Given the description of an element on the screen output the (x, y) to click on. 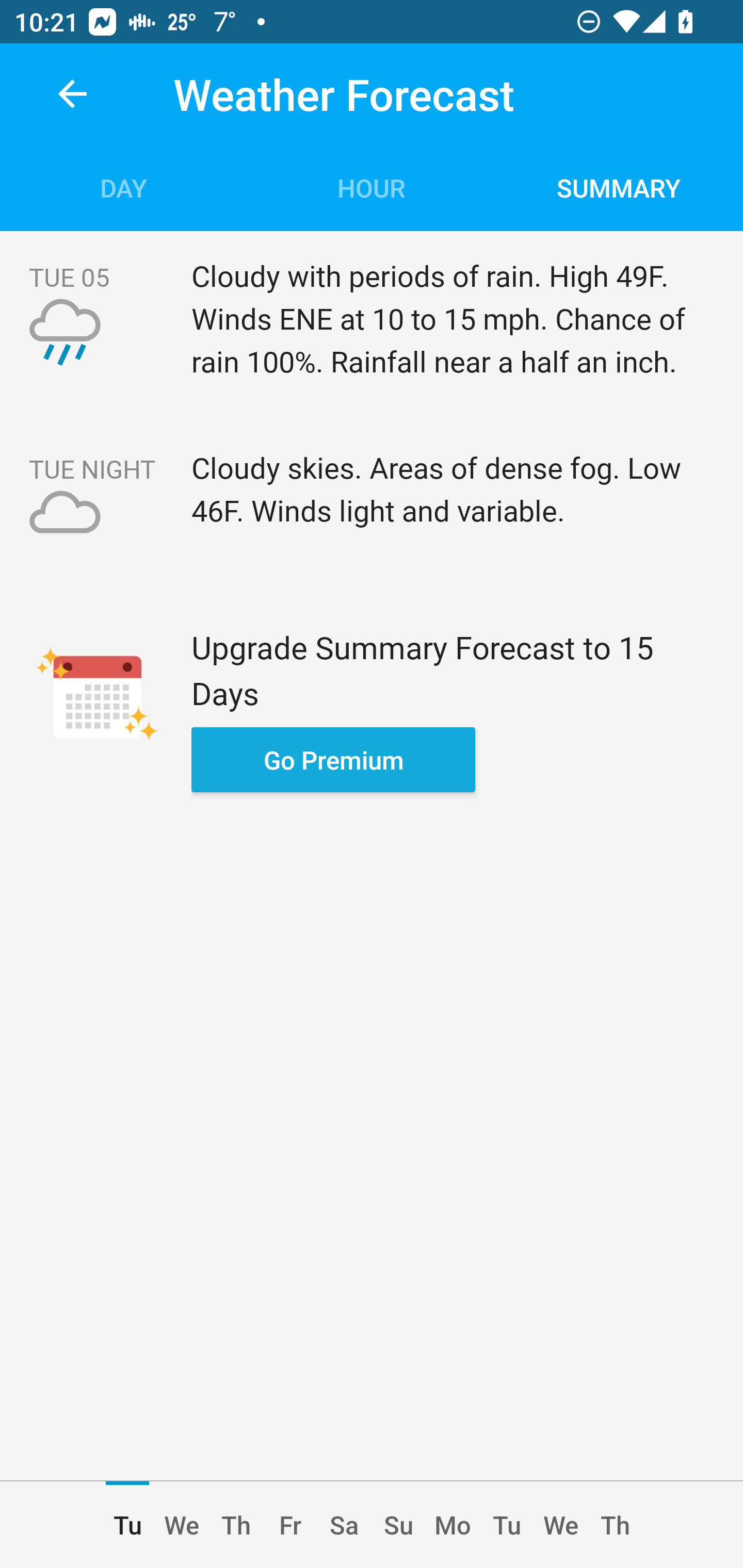
back (71, 93)
Day Tab DAY (123, 187)
Hour Tab HOUR (371, 187)
Go Premium (333, 759)
We (181, 1524)
Th (235, 1524)
Fr (290, 1524)
Sa (344, 1524)
Su (398, 1524)
Mo (452, 1524)
Tu (506, 1524)
We (561, 1524)
Th (615, 1524)
